Given the description of an element on the screen output the (x, y) to click on. 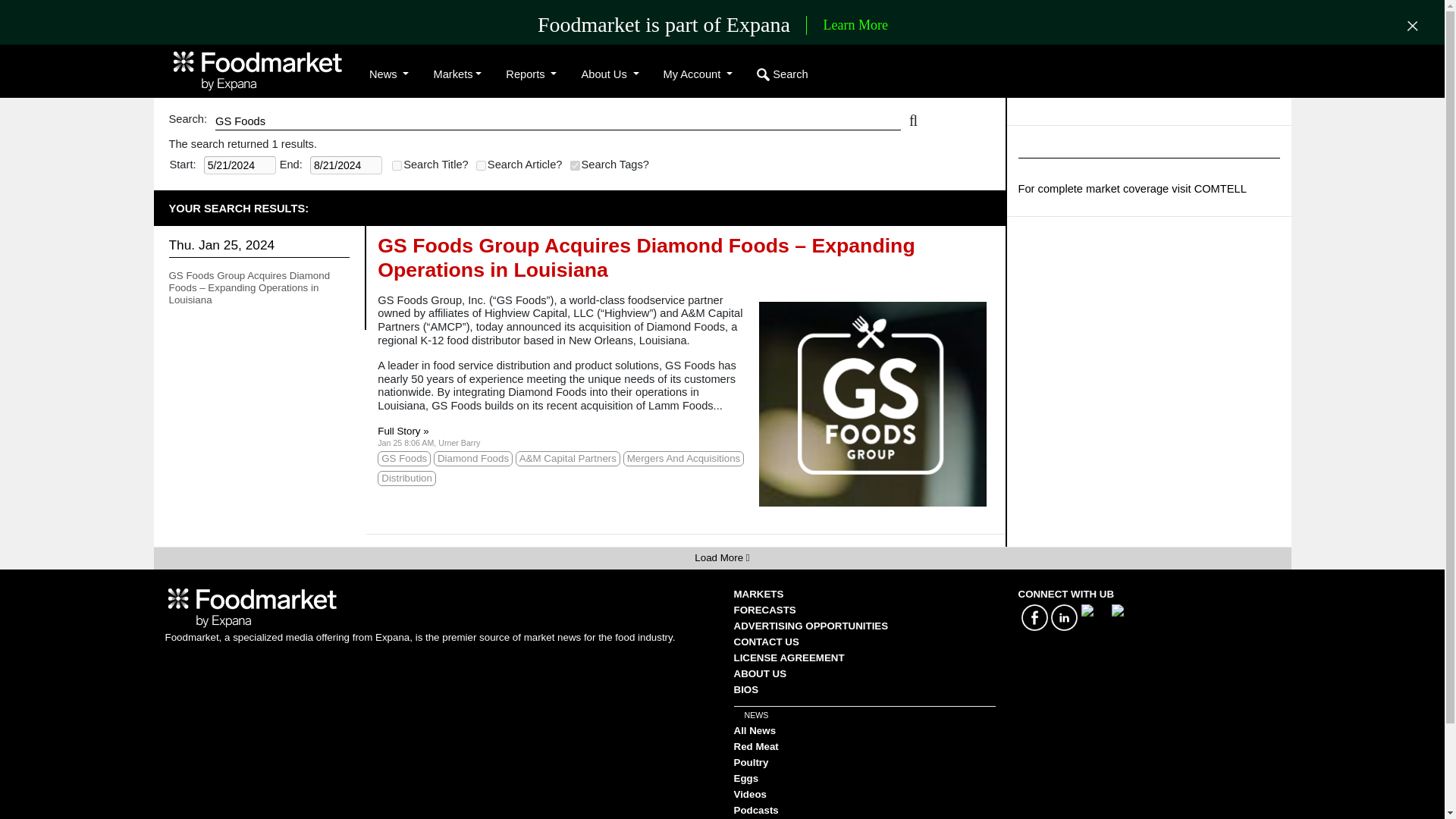
My Account (697, 74)
Markets (456, 74)
Learn More (856, 25)
on (574, 165)
on (481, 165)
on (396, 165)
About Us (609, 74)
Reports (531, 74)
News (388, 74)
